Given the description of an element on the screen output the (x, y) to click on. 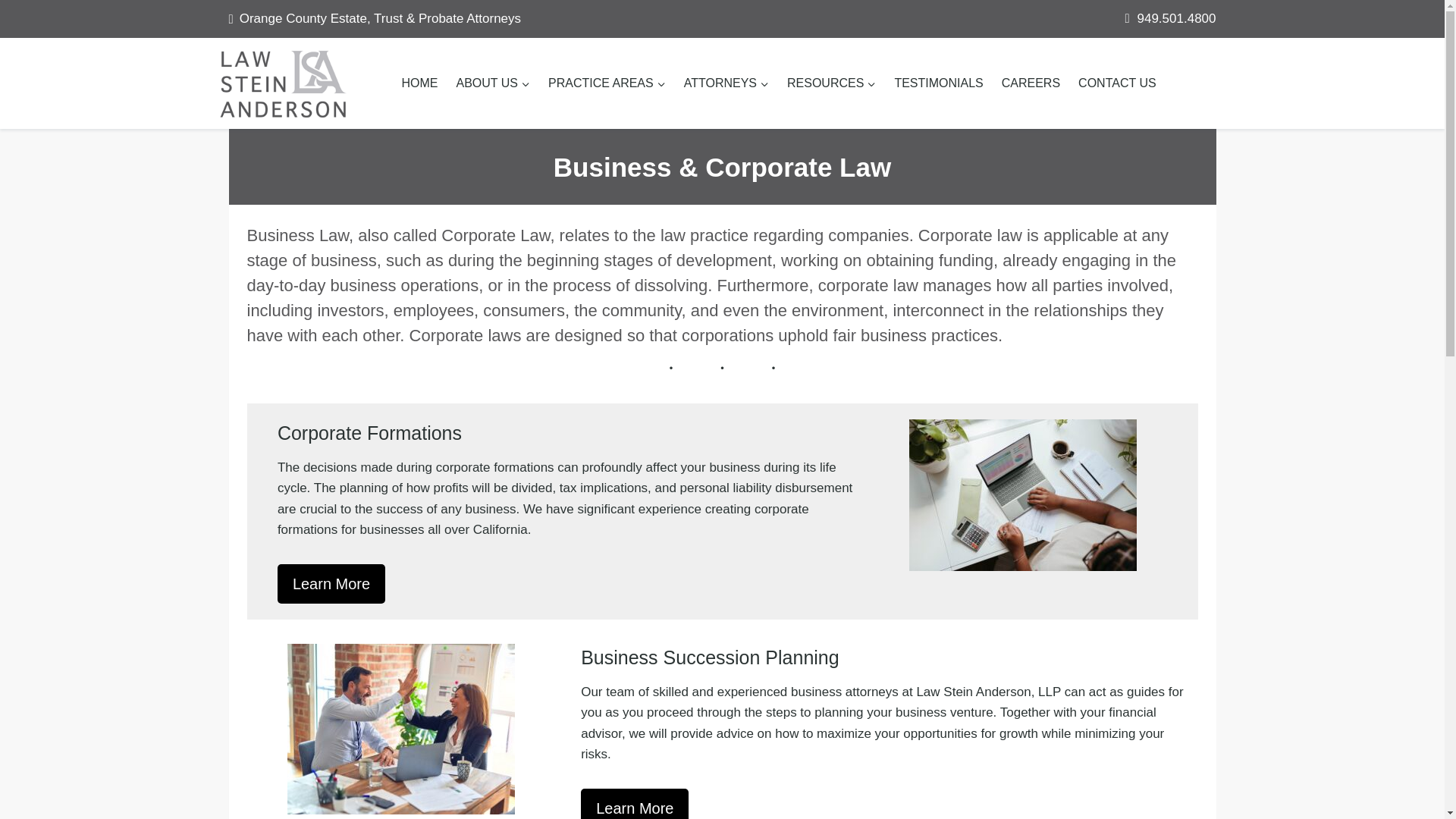
PRACTICE AREAS (606, 83)
ABOUT US (493, 83)
949.501.4800 (1176, 18)
ATTORNEYS (726, 83)
HOME (419, 83)
